Given the description of an element on the screen output the (x, y) to click on. 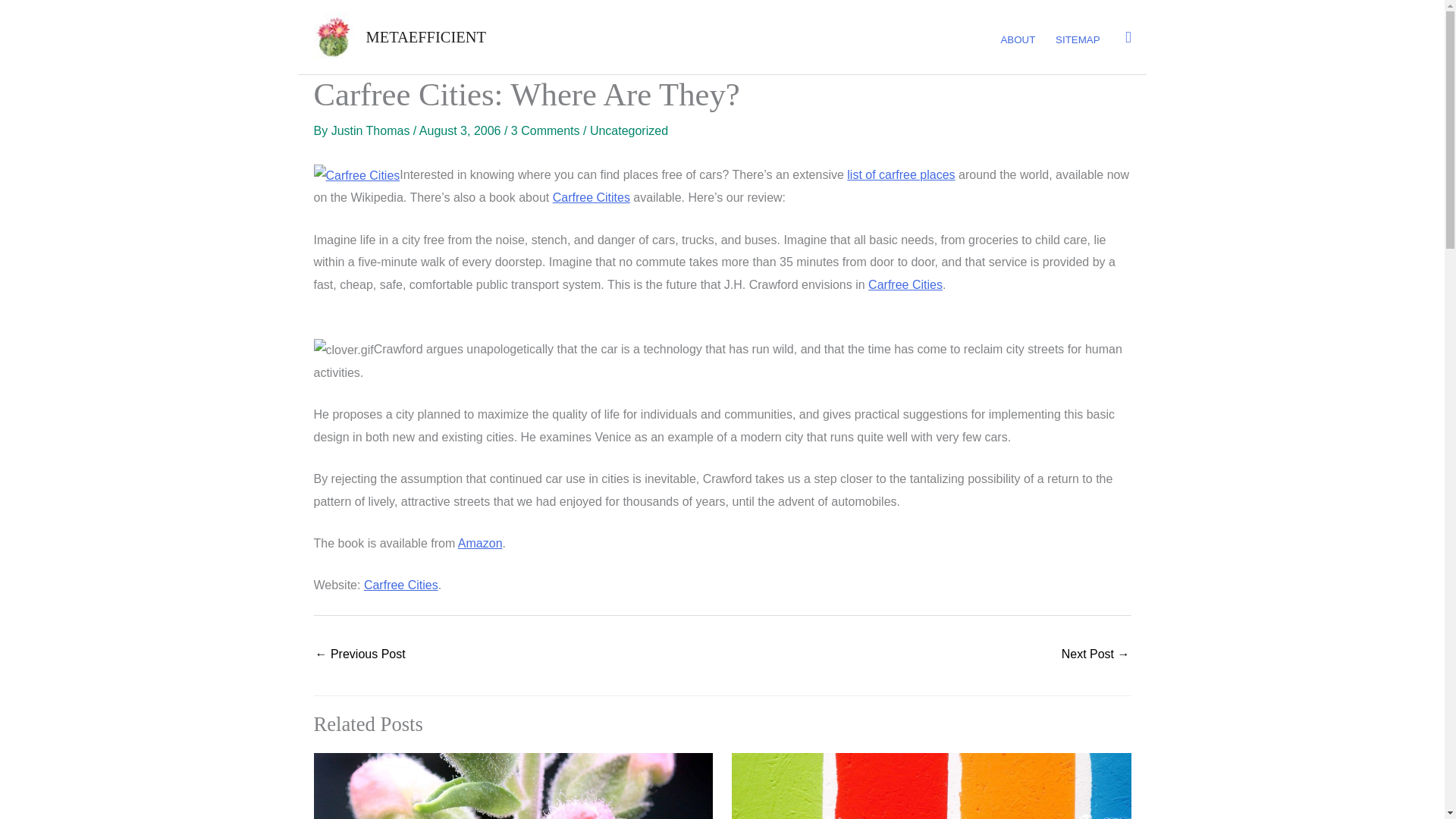
3 Comments (545, 130)
SITEMAP (1077, 40)
View all posts by Justin Thomas (372, 130)
Carfree Cities (904, 284)
ABOUT (1017, 40)
Uncategorized (628, 130)
METAEFFICIENT (424, 36)
Justin Thomas (372, 130)
Carfree Citites (591, 196)
list of carfree places (901, 174)
